Given the description of an element on the screen output the (x, y) to click on. 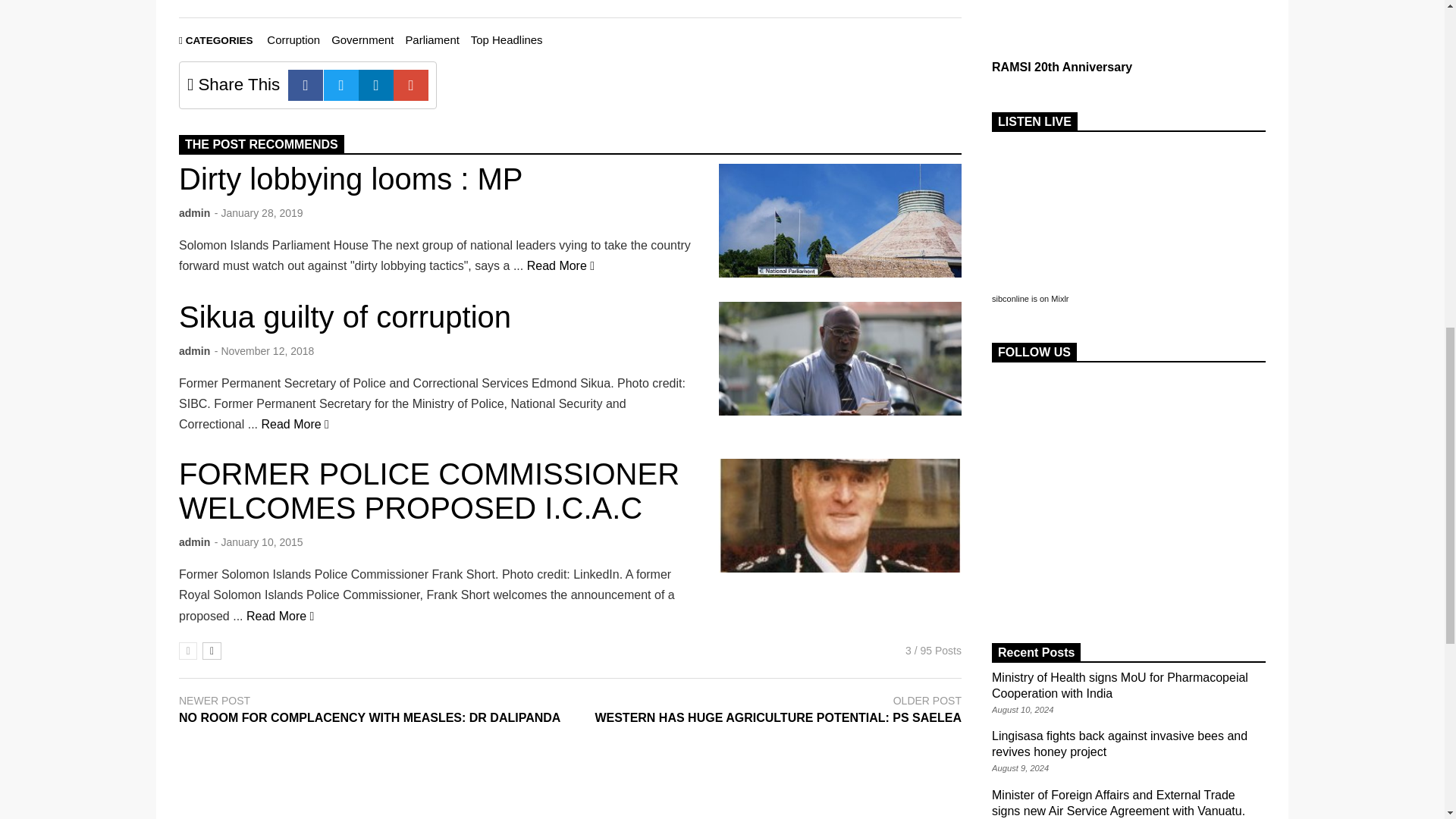
FORMER POLICE COMMISSIONER WELCOMES PROPOSED I.C.A.C (839, 515)
Dirty lobbying looms : MP (350, 178)
Linkedin (375, 84)
Sikua guilty of corruption (839, 358)
Dirty lobbying looms : MP (839, 220)
Dirty lobbying looms : MP (560, 265)
E-mail (410, 84)
Twitter (340, 84)
Sikua guilty of corruption (295, 423)
Sikua guilty of corruption (345, 316)
